Given the description of an element on the screen output the (x, y) to click on. 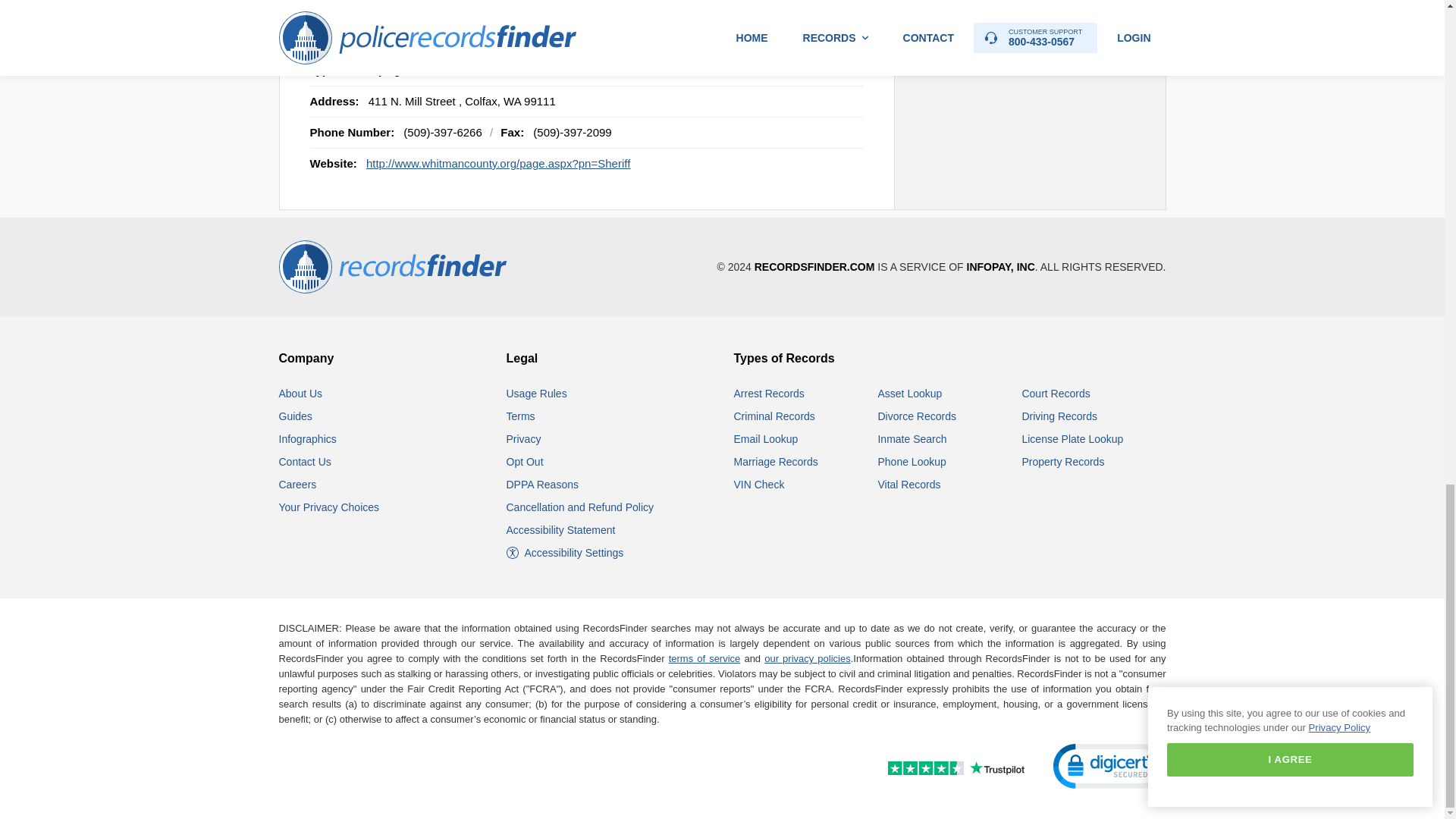
View Public Records Infographics and Statistics (307, 439)
RecordsFinder.com Cancellation and Refund Policy (579, 507)
Careers at RecordsFinder.com (298, 484)
Customer reviews powered by Trustpilot (922, 769)
RecordsFinder.com Privacy Policy (523, 439)
RecordsFinder.com Terms and Conditions (520, 416)
RecordsFinder.com DPPA Reasons (542, 484)
Your Privacy Choices (329, 507)
About RecordsFinder.com (301, 393)
RecordsFinder.com Accessibility Statement (560, 530)
Guides and How tos (296, 416)
Contact RecordsFinder.com (305, 461)
RecordsFinder.com Usage Rules (536, 393)
RecordsFinder.com Opt Out Instructions (524, 461)
